Given the description of an element on the screen output the (x, y) to click on. 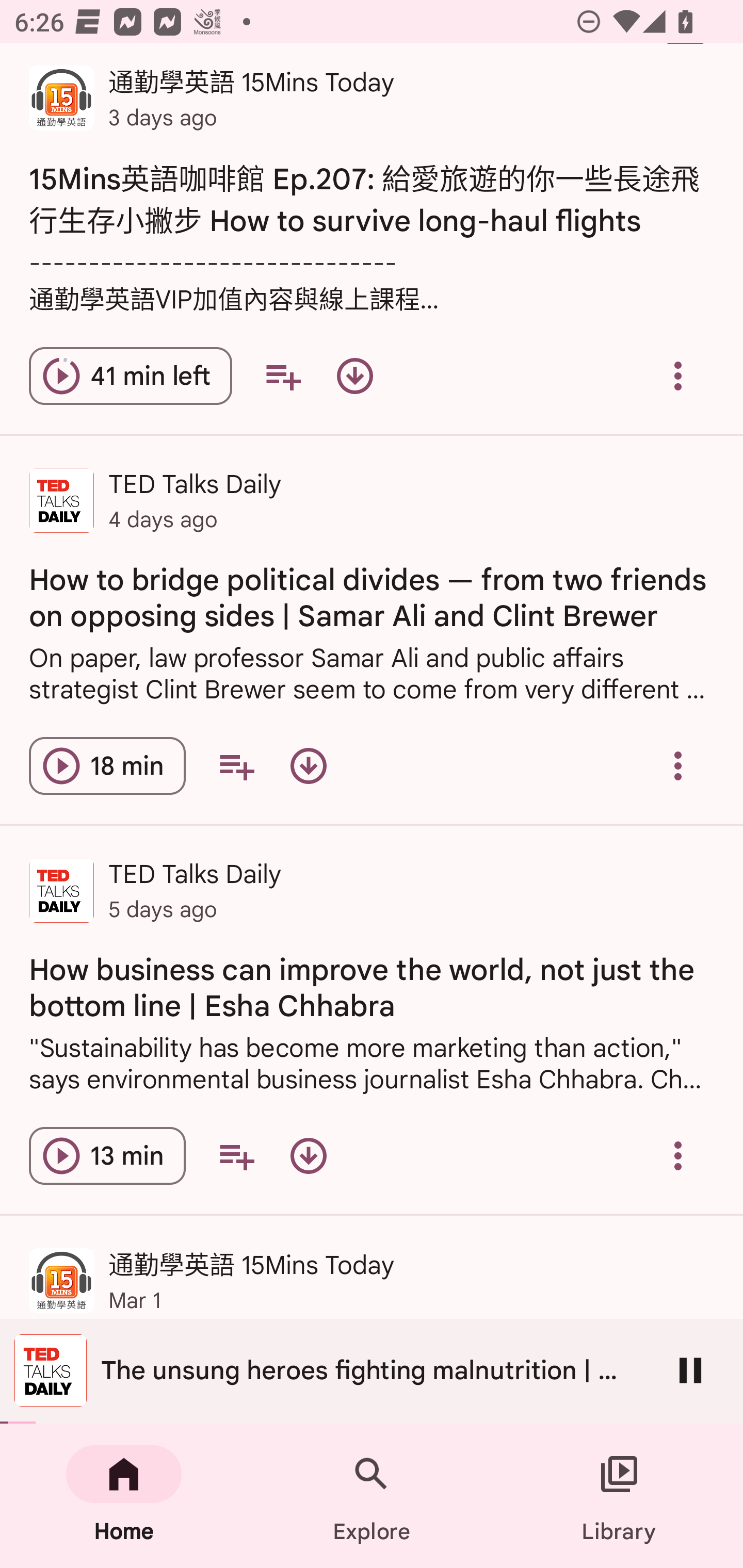
Add to your queue (282, 375)
Download episode (354, 375)
Overflow menu (677, 375)
Add to your queue (235, 765)
Download episode (308, 765)
Overflow menu (677, 765)
Add to your queue (235, 1156)
Download episode (308, 1156)
Overflow menu (677, 1156)
Pause (690, 1370)
Explore (371, 1495)
Library (619, 1495)
